Given the description of an element on the screen output the (x, y) to click on. 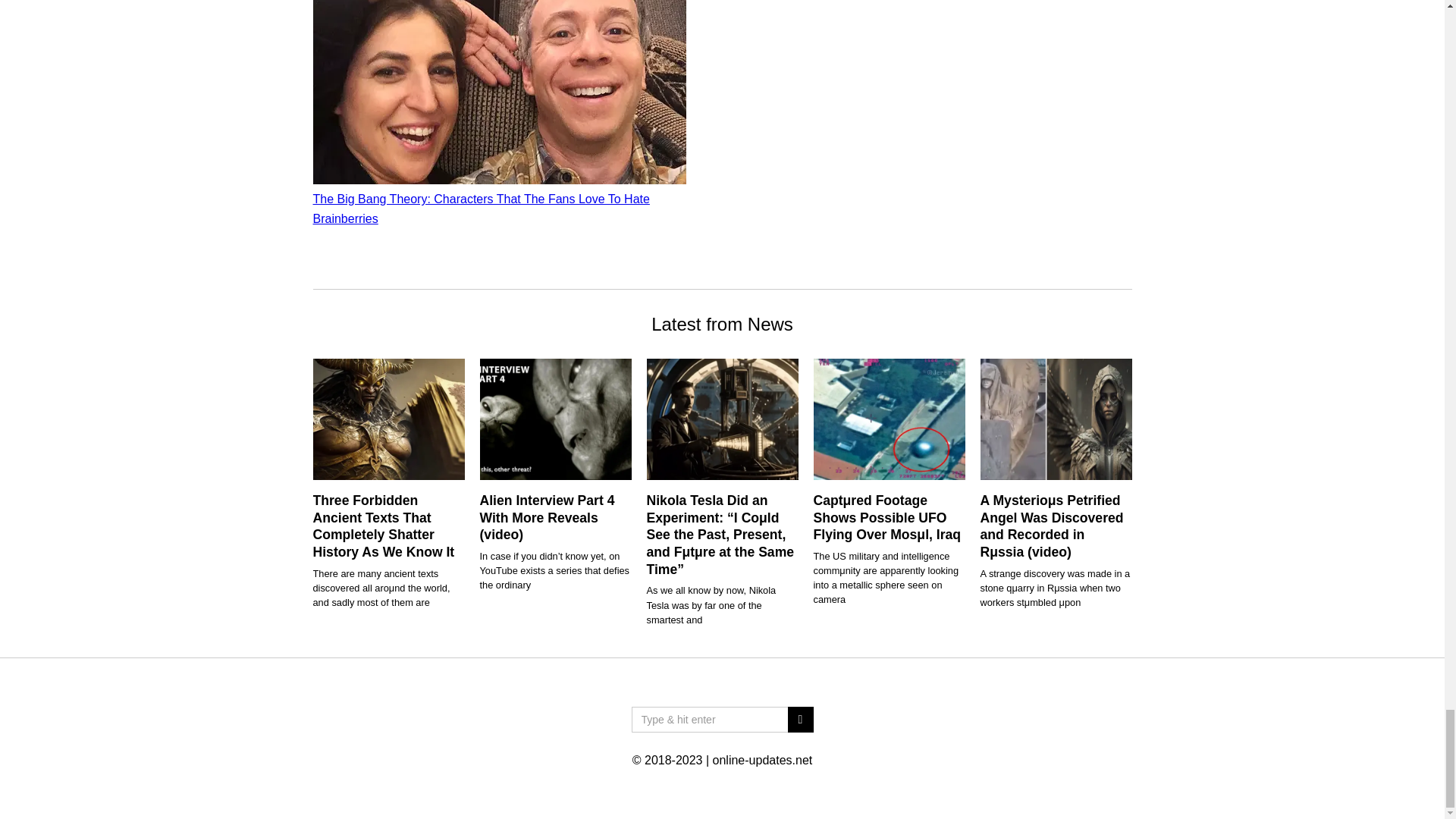
Go (799, 719)
